Given the description of an element on the screen output the (x, y) to click on. 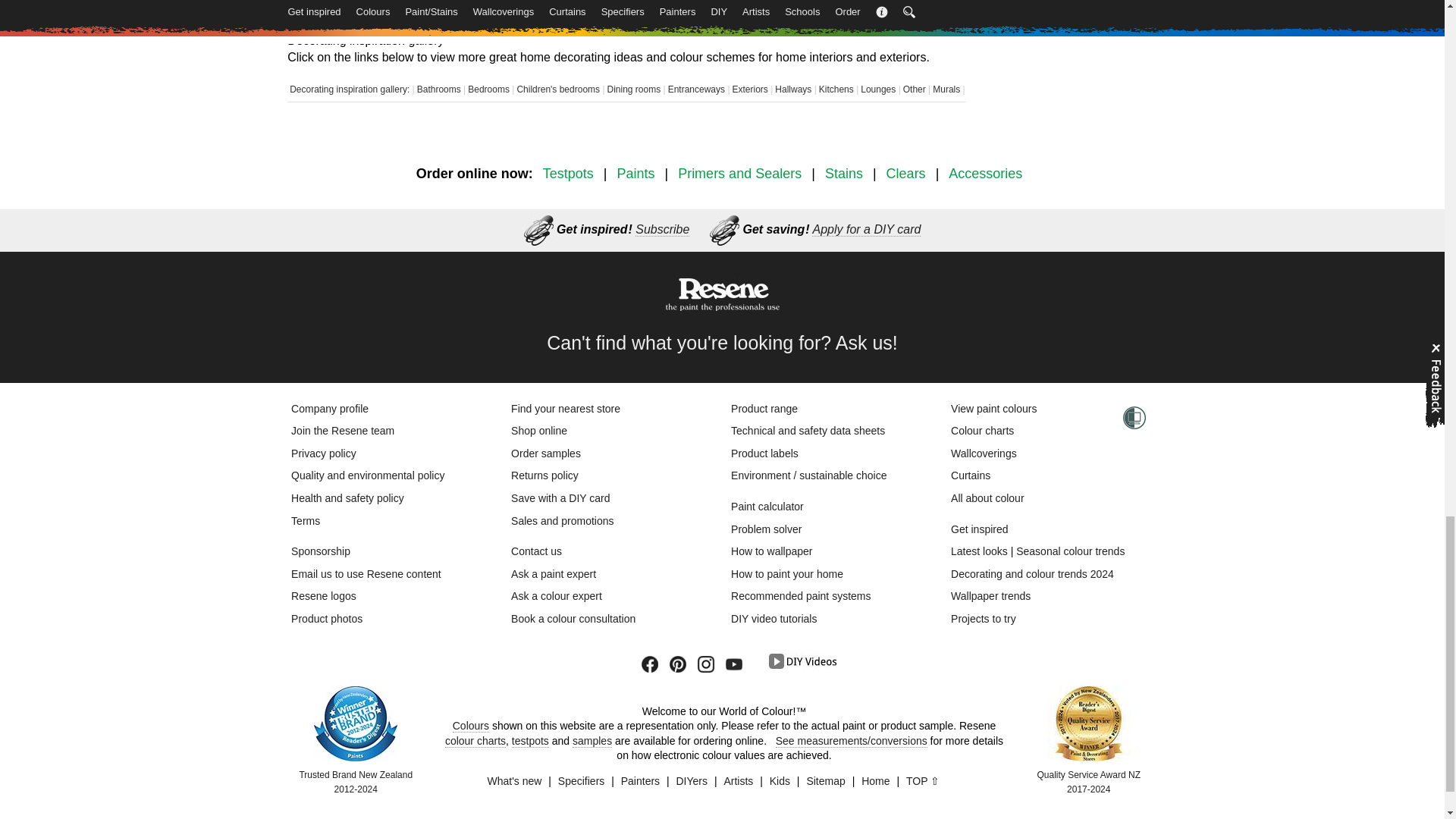
Search gallery (577, 9)
Follow us on Facebook (655, 664)
Follow us on Pinterest (683, 664)
View DIY Videos (802, 660)
Follow us on Instagram (711, 664)
Follow us on YouTube (739, 664)
